Given the description of an element on the screen output the (x, y) to click on. 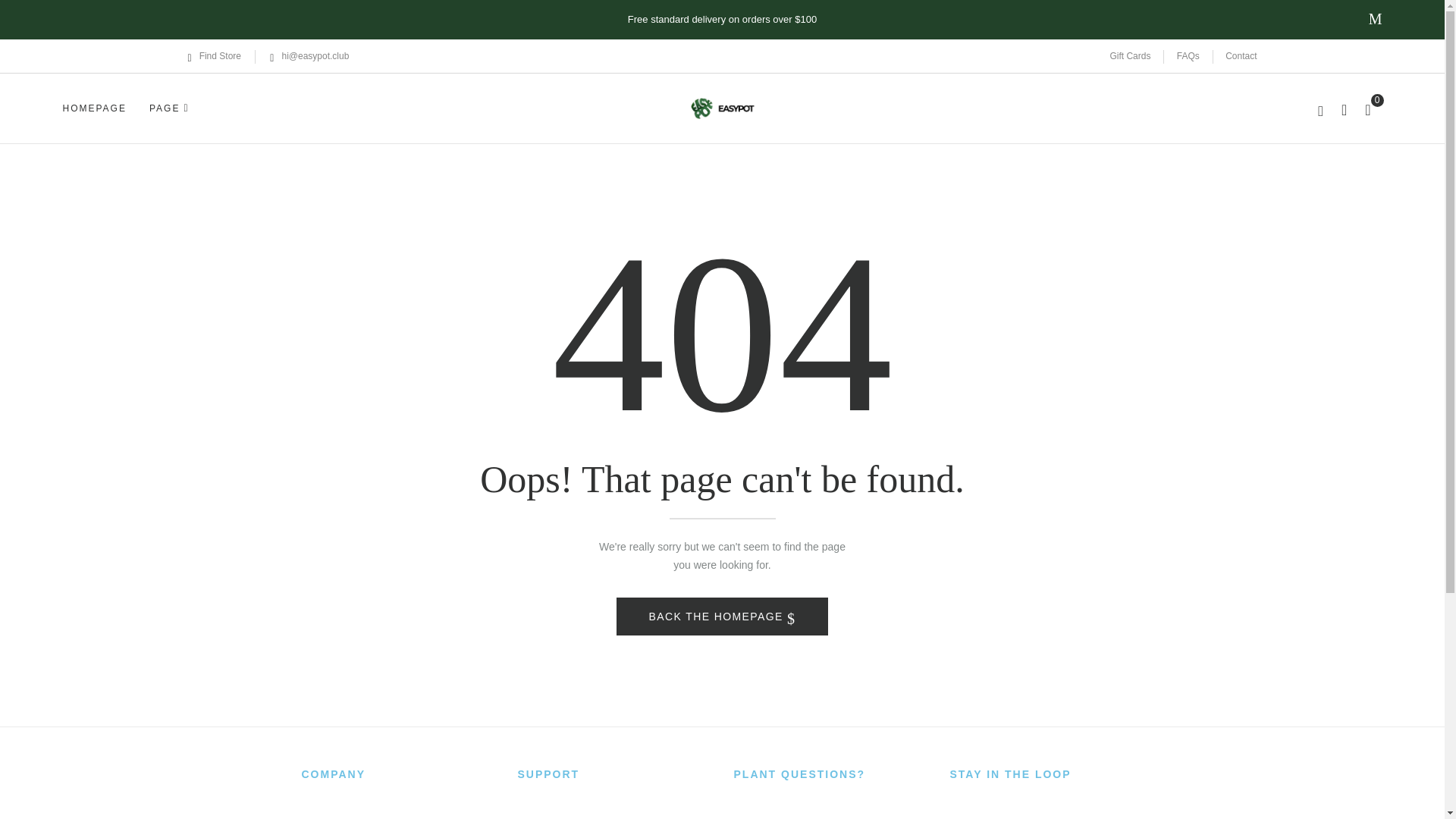
HOMEPAGE (93, 108)
Contact (1240, 55)
PAGE (169, 108)
Find Store (214, 55)
FAQs (1187, 55)
Gift Cards (1129, 55)
